Given the description of an element on the screen output the (x, y) to click on. 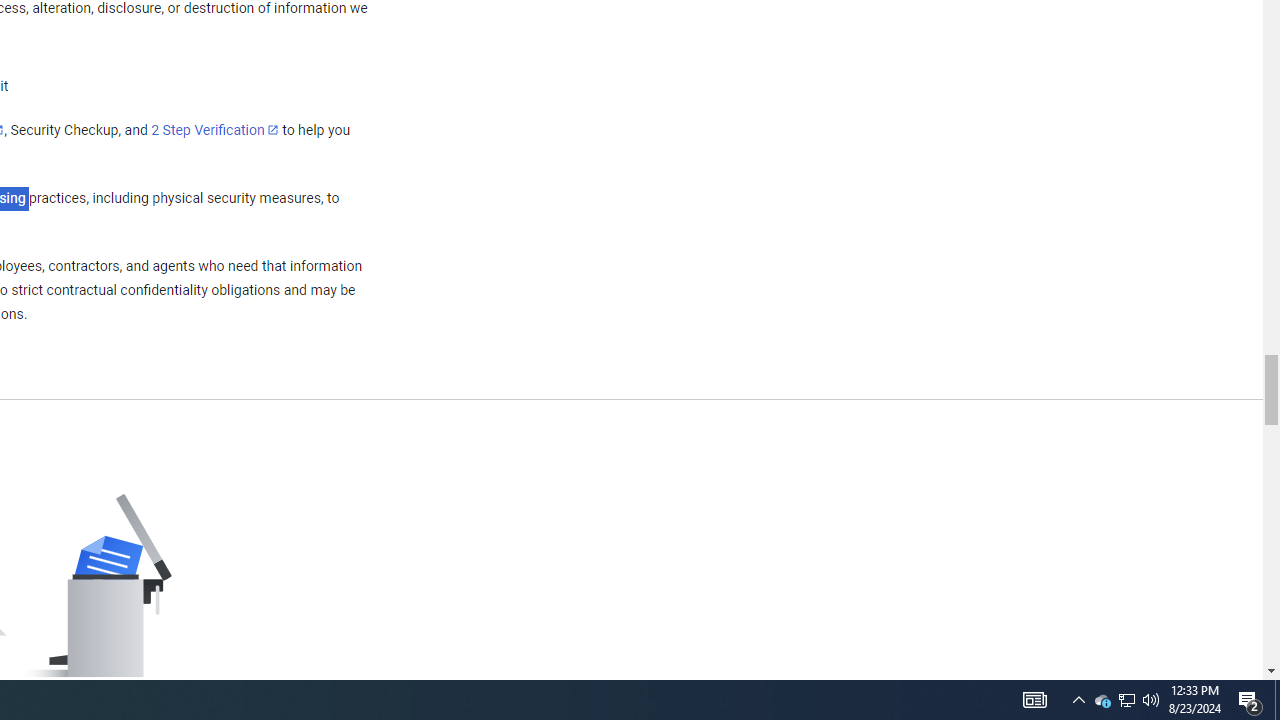
2 Step Verification (215, 129)
